Given the description of an element on the screen output the (x, y) to click on. 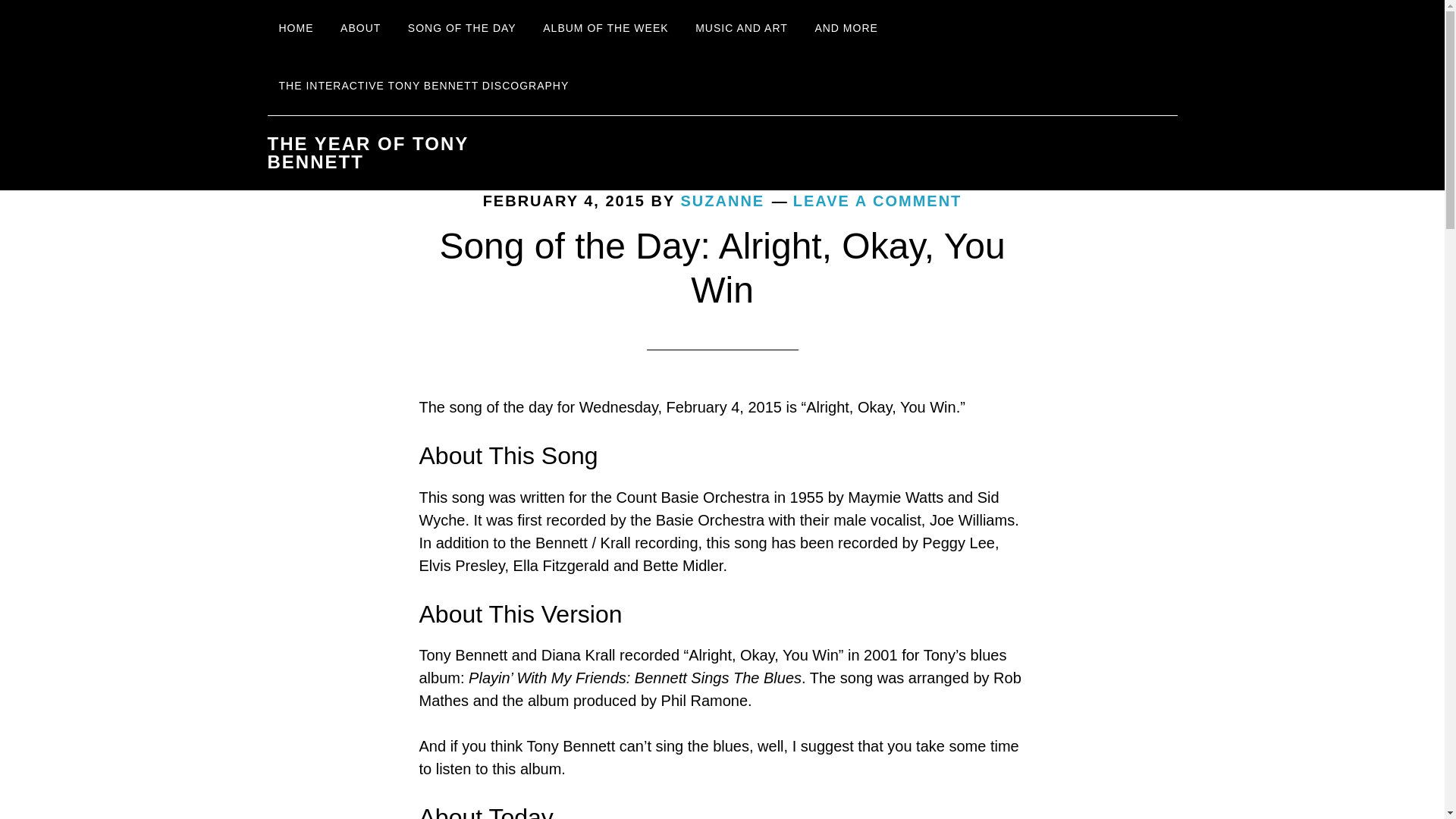
HOME (295, 28)
ALBUM OF THE WEEK (605, 28)
AND MORE (845, 28)
MUSIC AND ART (741, 28)
THE YEAR OF TONY BENNETT (366, 152)
THE INTERACTIVE TONY BENNETT DISCOGRAPHY (422, 86)
SONG OF THE DAY (461, 28)
LEAVE A COMMENT (877, 200)
ABOUT (360, 28)
SUZANNE (723, 200)
